Given the description of an element on the screen output the (x, y) to click on. 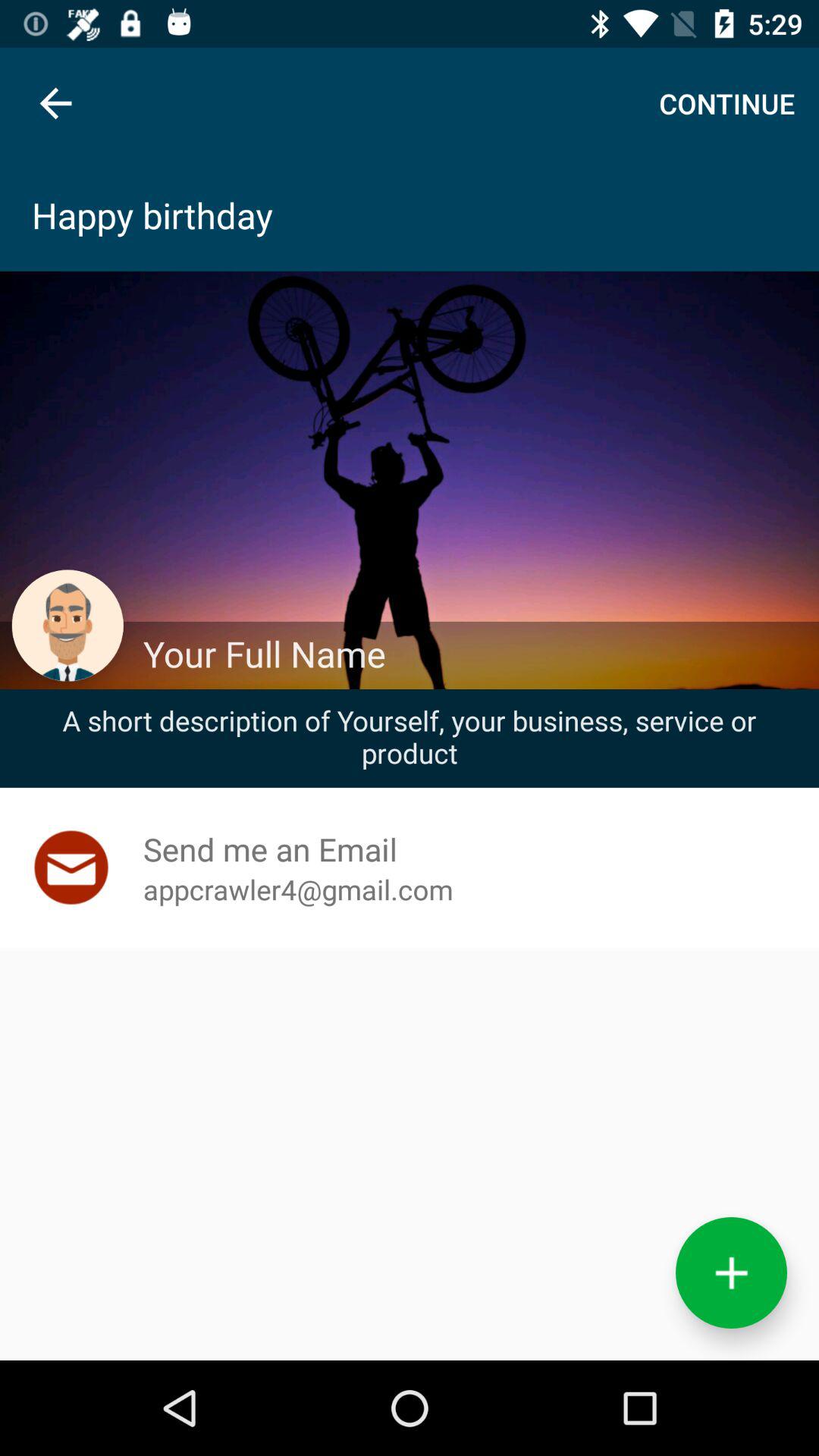
click icon below the appcrawler4@gmail.com icon (731, 1272)
